Given the description of an element on the screen output the (x, y) to click on. 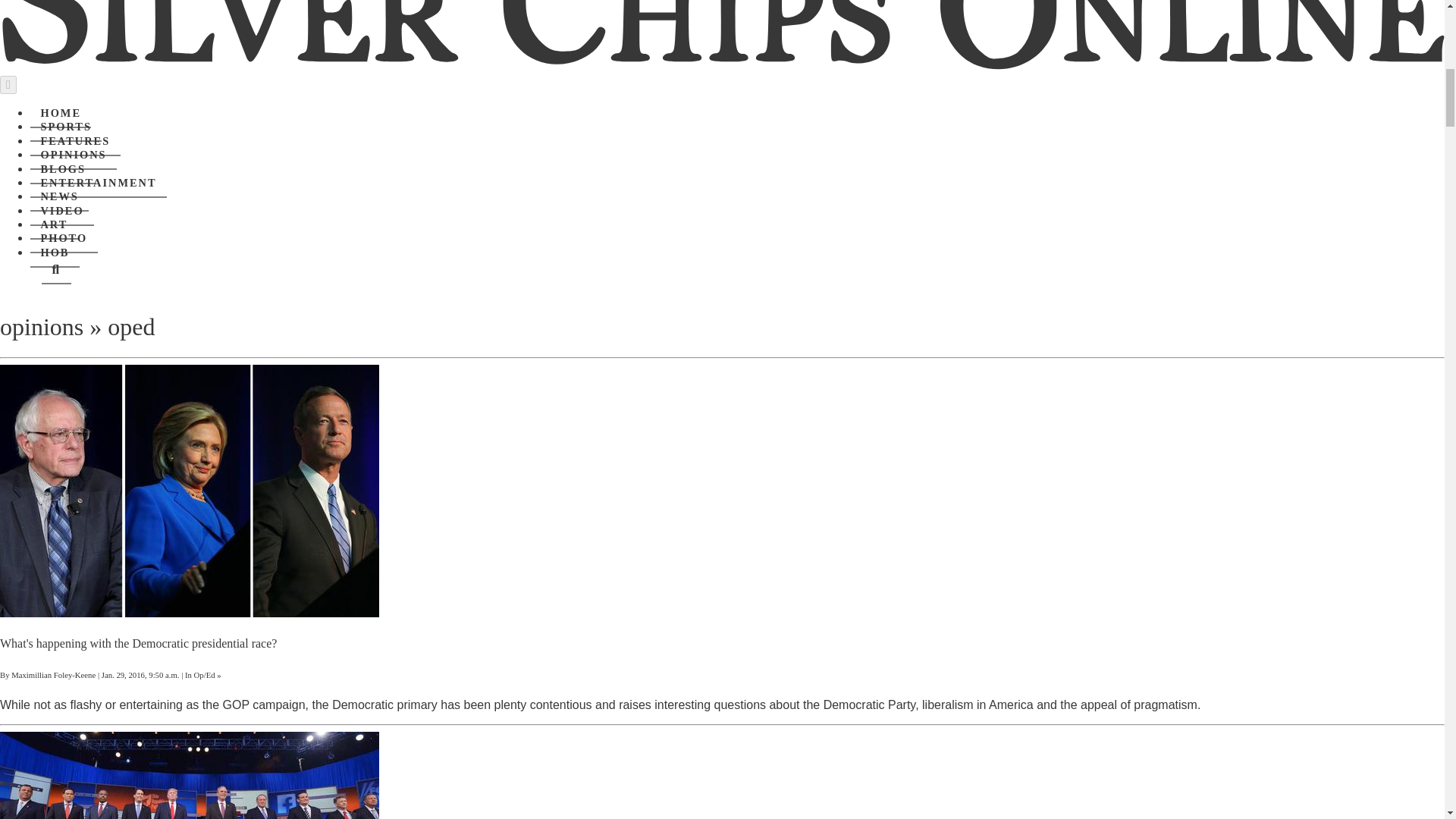
SPORTS (65, 127)
NEWS (59, 196)
VIDEO (62, 211)
FEATURES (75, 141)
ART (54, 224)
Maximillian Foley-Keene (53, 674)
ENTERTAINMENT (98, 183)
OPINIONS (73, 154)
What's happening with the Democratic presidential race? (138, 643)
BLOGS (63, 169)
PHOTO (63, 238)
HOB (55, 253)
HOME (60, 113)
